Given the description of an element on the screen output the (x, y) to click on. 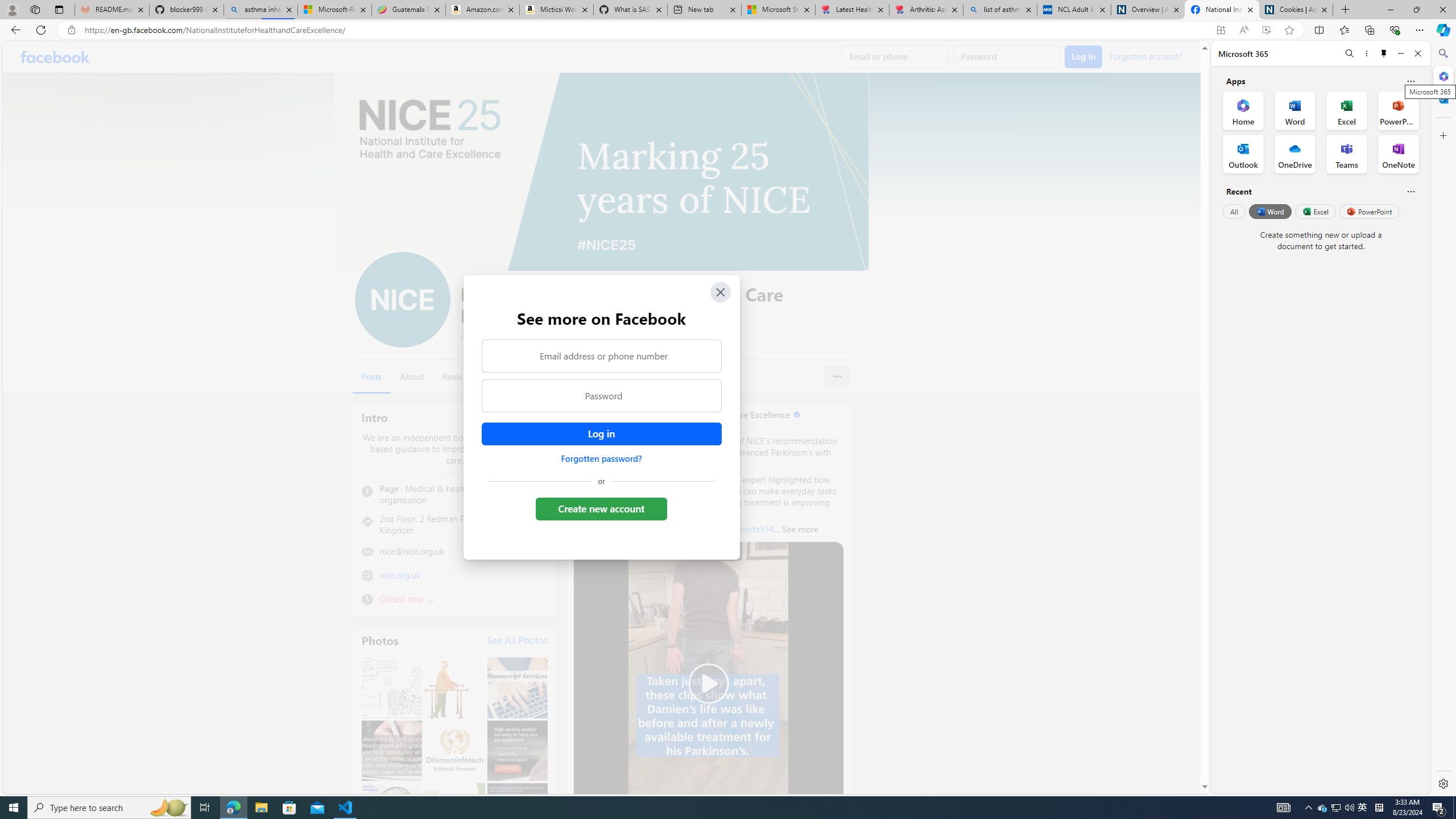
Excel Office App (1346, 110)
OneDrive Office App (1295, 154)
Outlook Office App (1243, 154)
OneNote Office App (1398, 154)
Word Office App (1295, 110)
PowerPoint (1369, 210)
